Given the description of an element on the screen output the (x, y) to click on. 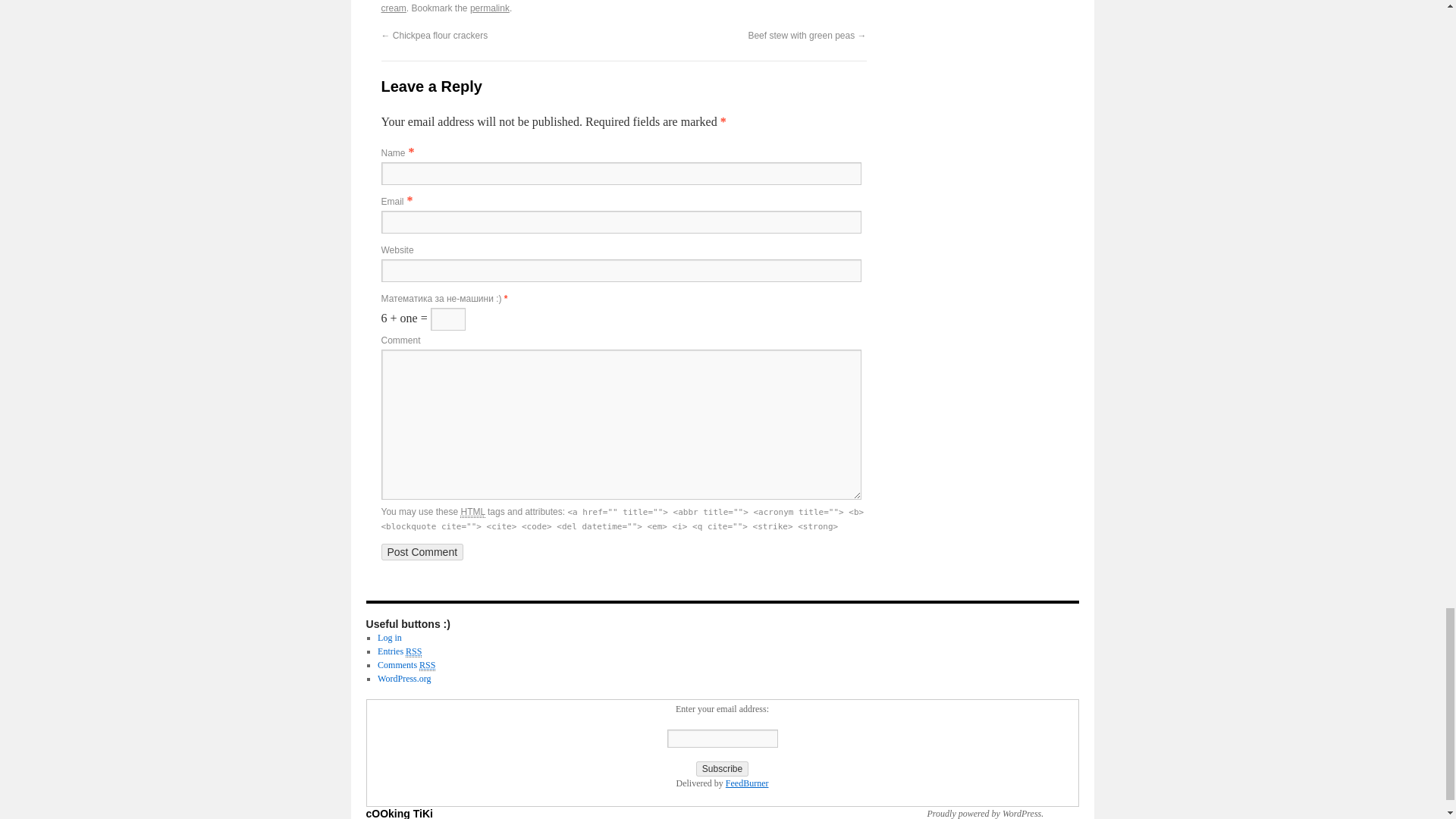
Post Comment (421, 551)
Subscribe (721, 768)
HyperText Markup Language (472, 511)
Permalink to Biscuit cake for kids (489, 8)
